Given the description of an element on the screen output the (x, y) to click on. 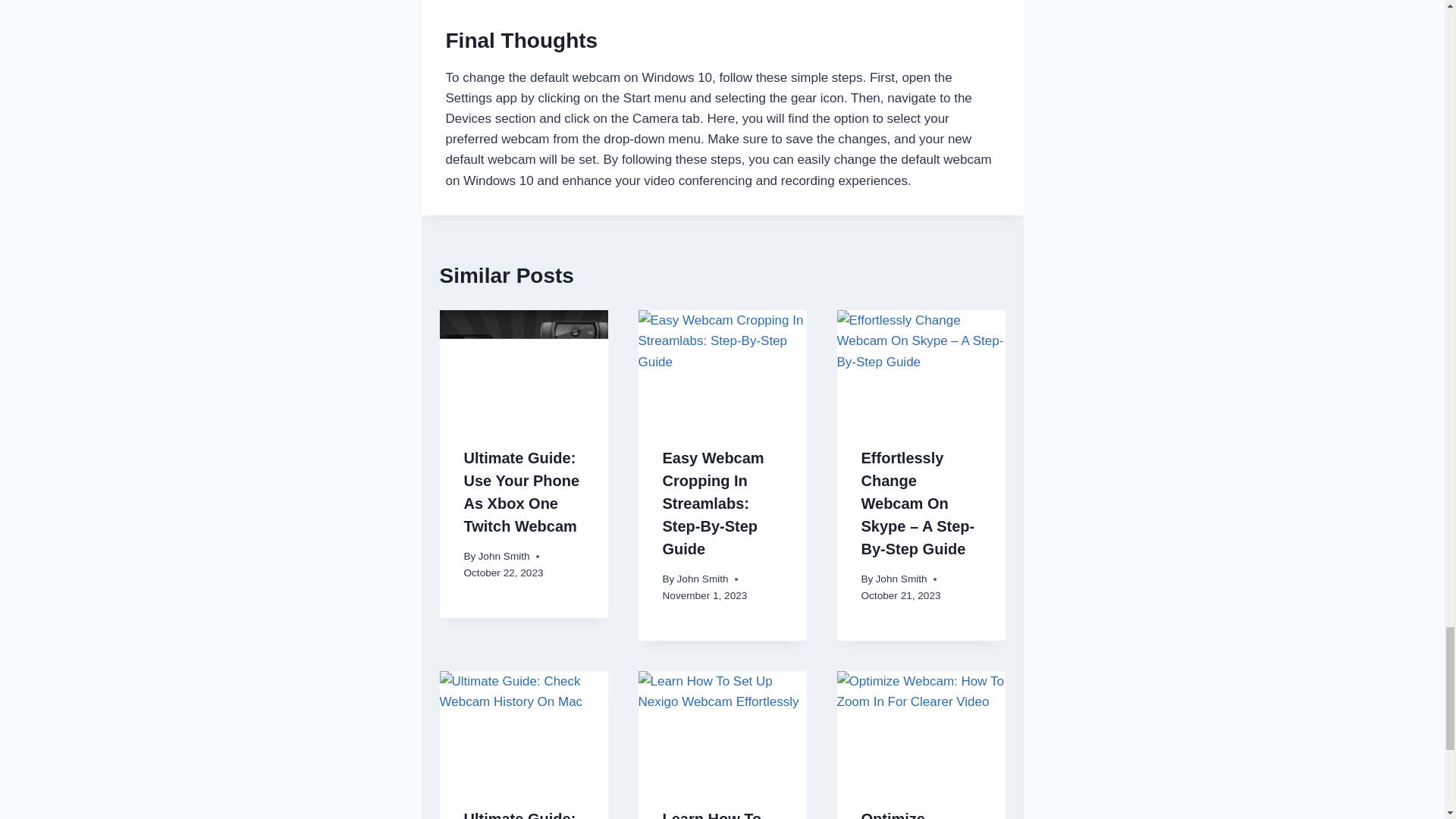
Ultimate Guide: Use Your Phone As Xbox One Twitch Webcam (521, 491)
John Smith (504, 555)
John Smith (901, 578)
John Smith (703, 578)
Ultimate Guide: Check Webcam History On Mac (520, 814)
Learn How To Set Up Nexigo Webcam Effortlessly (713, 814)
Easy Webcam Cropping In Streamlabs: Step-By-Step Guide (713, 503)
